Given the description of an element on the screen output the (x, y) to click on. 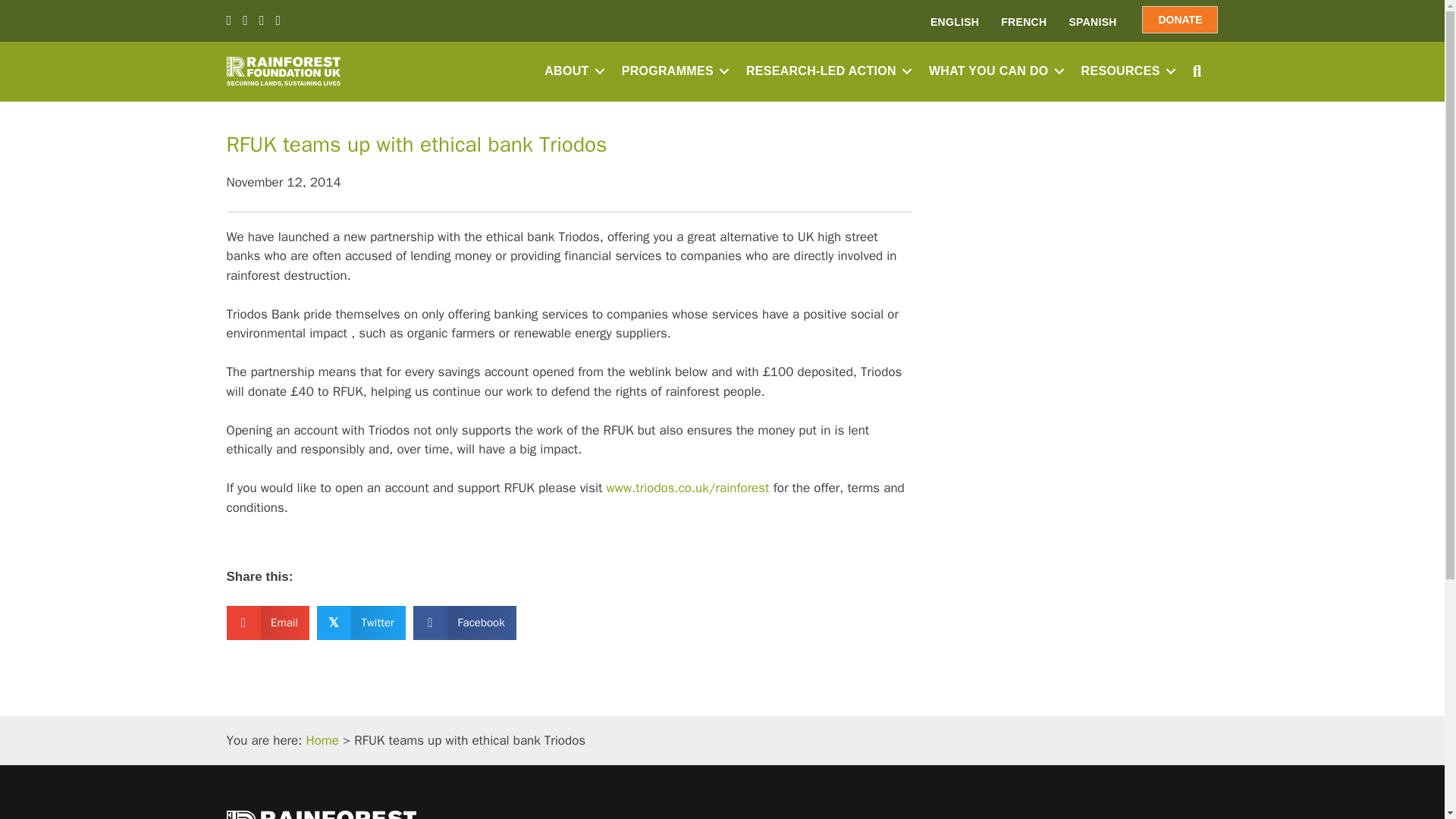
WHAT YOU CAN DO (994, 70)
RESEARCH-LED ACTION (826, 70)
DONATE (1179, 19)
SPANISH (1092, 21)
FRENCH (1023, 21)
PROGRAMMES (673, 70)
RFUK-logo-white (282, 71)
ABOUT (572, 70)
ENGLISH (955, 21)
RFUK-logo-white (319, 814)
